Given the description of an element on the screen output the (x, y) to click on. 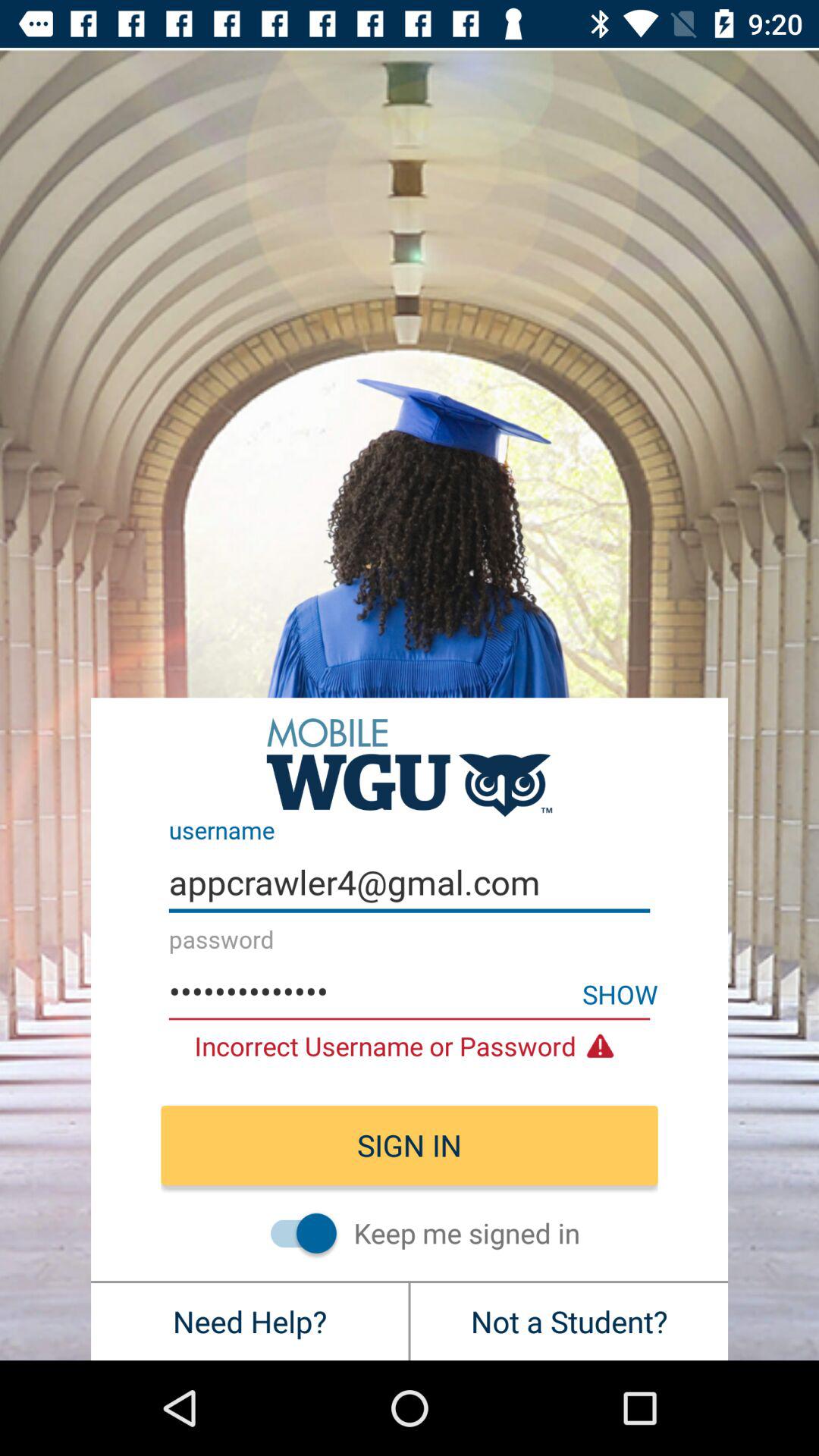
swipe to the show item (620, 993)
